Given the description of an element on the screen output the (x, y) to click on. 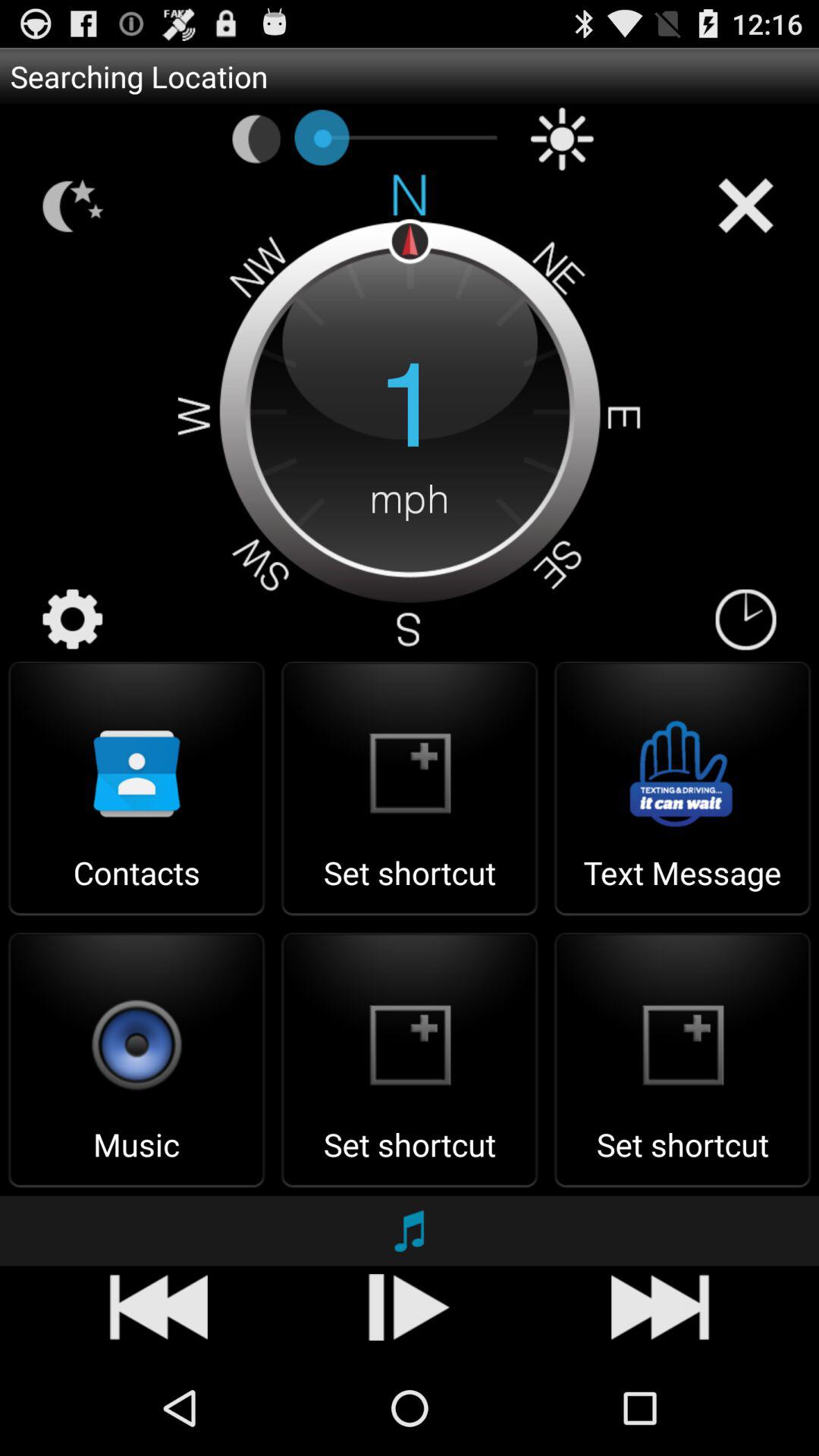
tap the app above the 1 icon (256, 138)
